Given the description of an element on the screen output the (x, y) to click on. 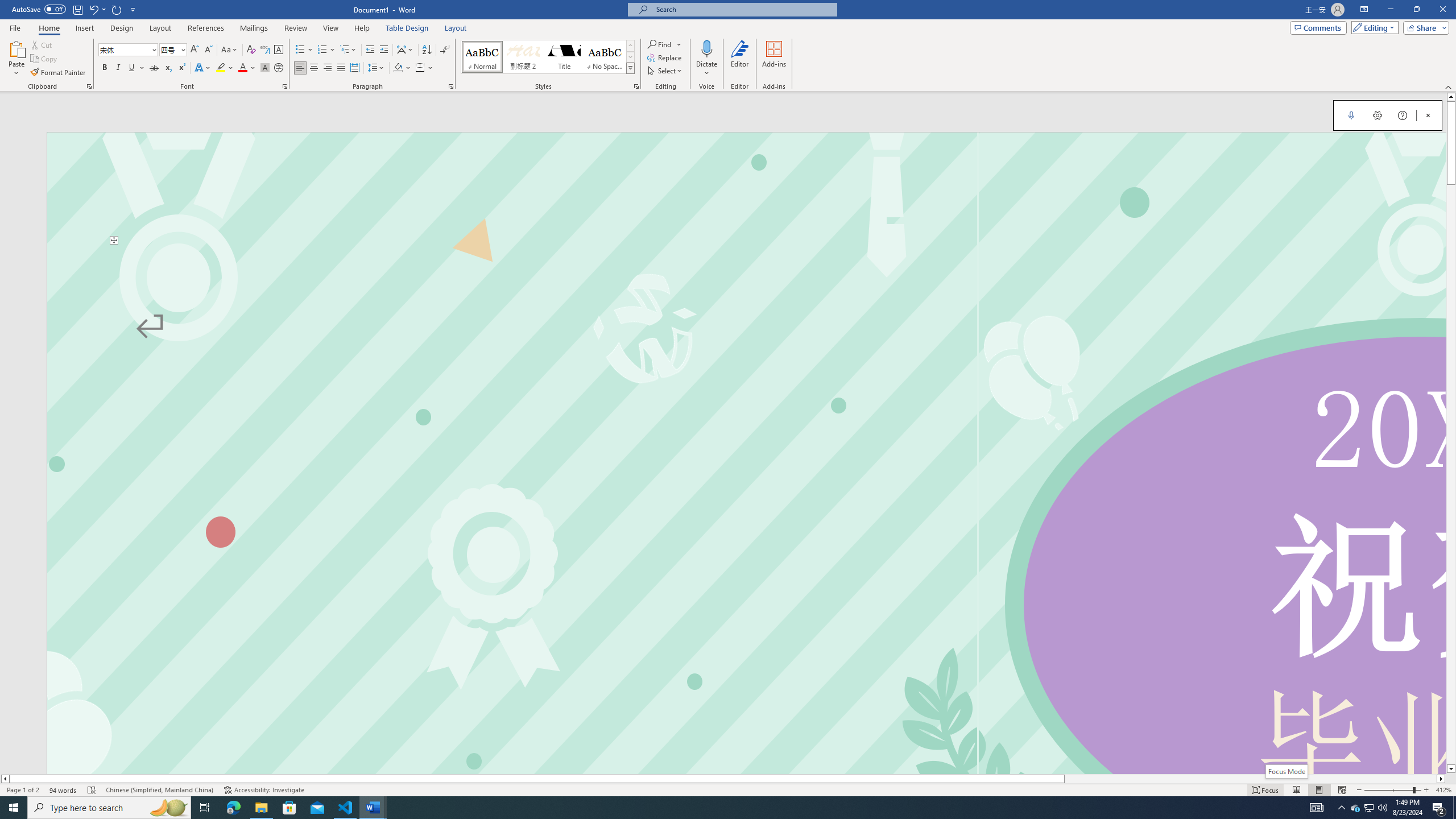
Close Dictation (1428, 115)
